Given the description of an element on the screen output the (x, y) to click on. 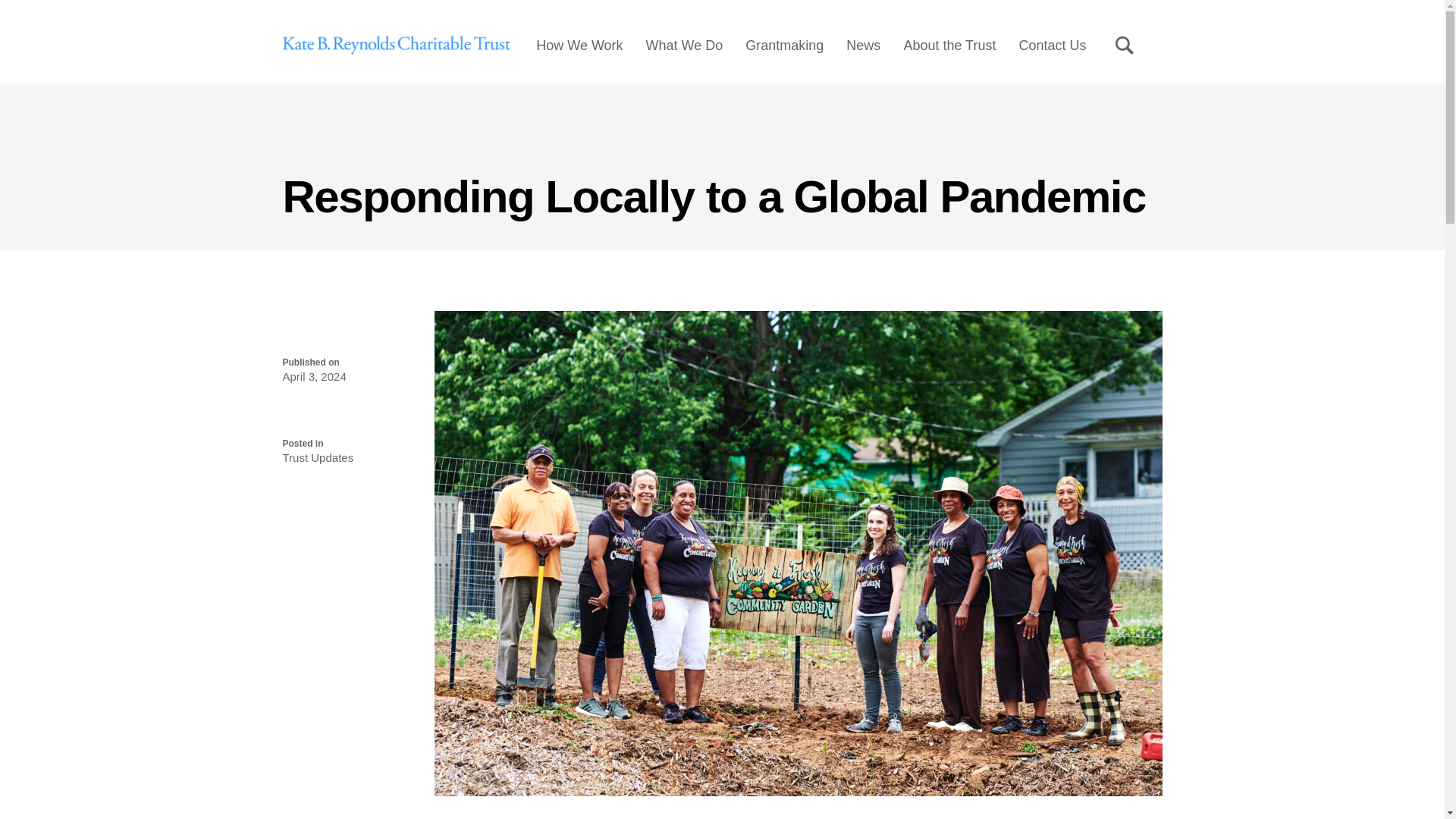
Contact Us (1051, 44)
About the Trust (948, 44)
Trust Updates (317, 457)
What We Do (684, 44)
Search (1123, 45)
How We Work (579, 44)
Kate B. Reynolds Charitable Trust (395, 45)
Grantmaking (784, 44)
April 3, 2024 (314, 376)
